Given the description of an element on the screen output the (x, y) to click on. 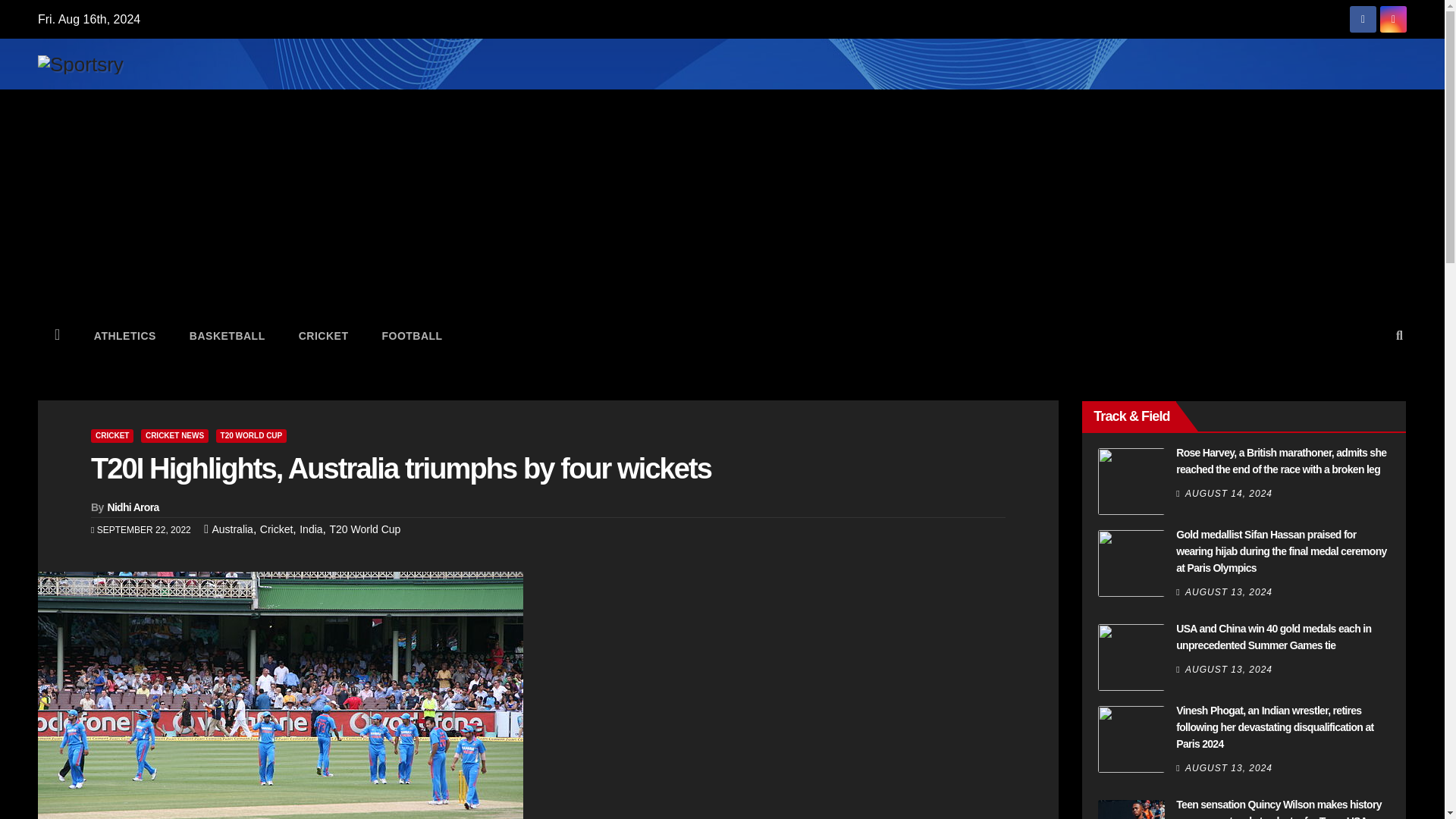
CRICKET (111, 436)
T20 World Cup (364, 529)
Athletics (125, 335)
Basketball (227, 335)
Cricket (323, 335)
T20I Highlights, Australia triumphs by four wickets (400, 468)
FOOTBALL (411, 335)
CRICKET (323, 335)
CRICKET NEWS (174, 436)
